Given the description of an element on the screen output the (x, y) to click on. 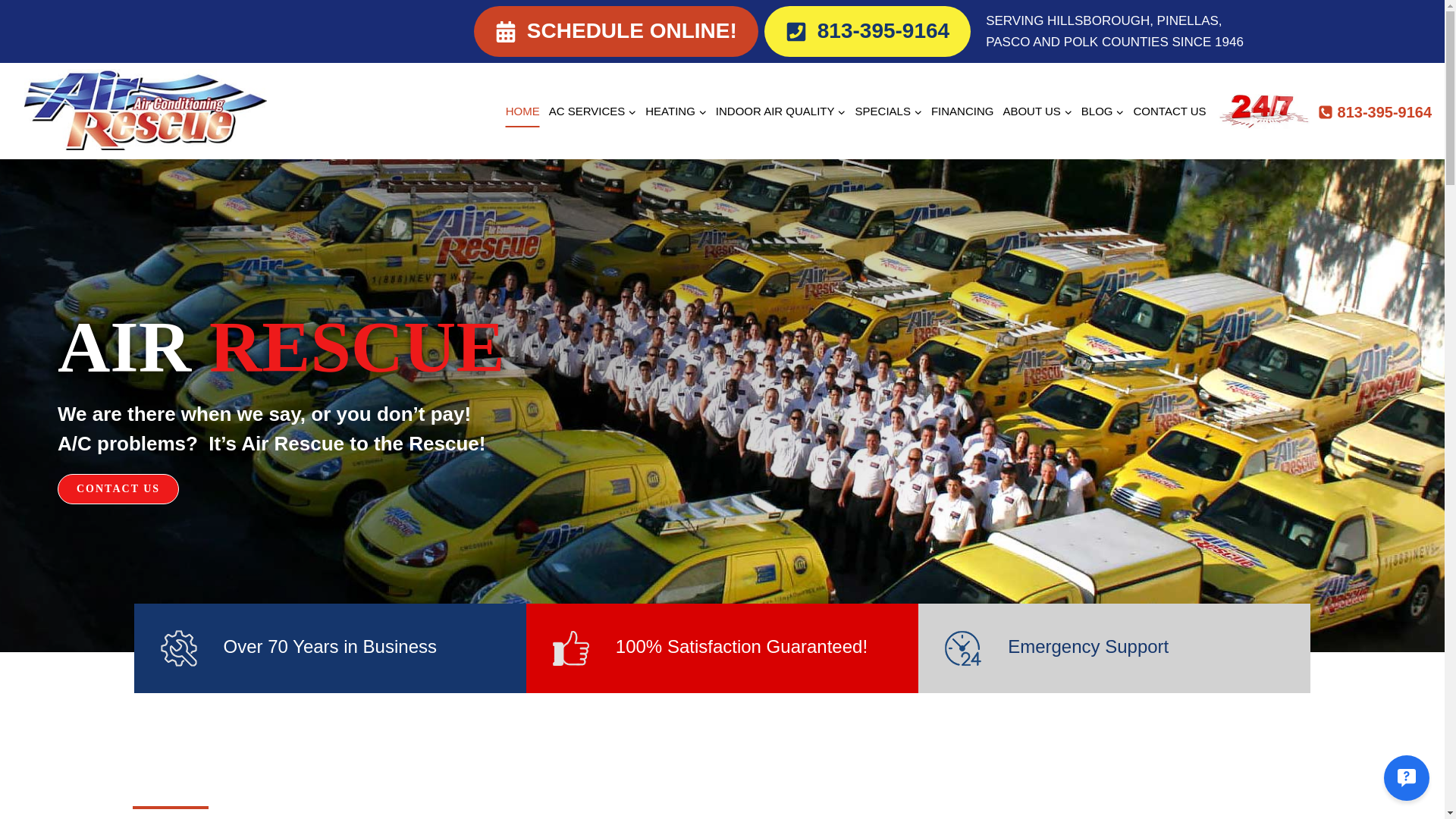
813-395-9164 (1374, 111)
CONTACT US (1168, 111)
FINANCING (962, 111)
BLOG (1103, 111)
813-395-9164 (867, 30)
INDOOR AIR QUALITY (780, 111)
HEATING (675, 111)
HOME (522, 111)
SPECIALS (888, 111)
ABOUT US (1036, 111)
AC SERVICES (593, 111)
SCHEDULE ONLINE! (616, 30)
